Given the description of an element on the screen output the (x, y) to click on. 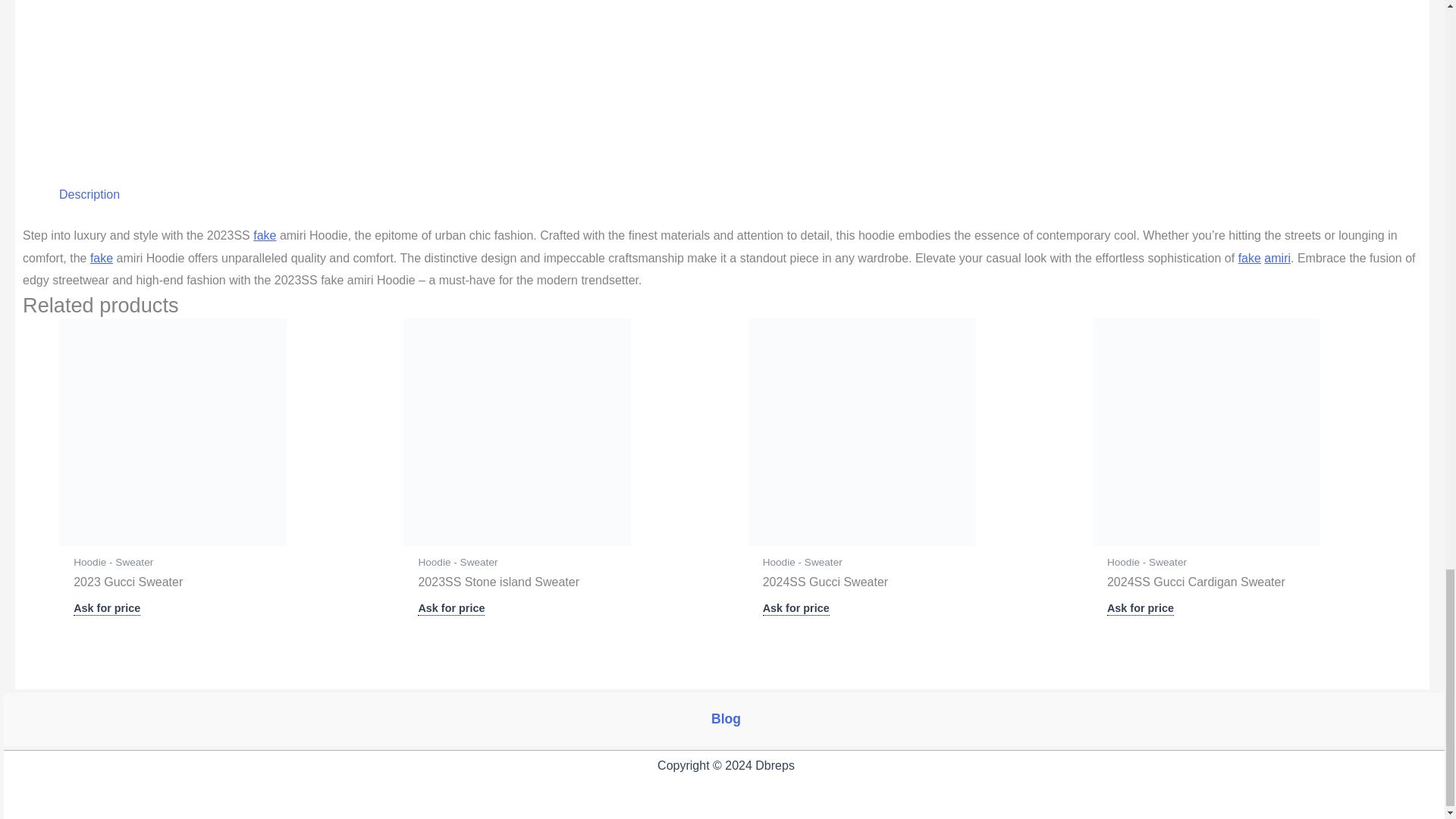
fake (1249, 257)
Description (89, 194)
fake (101, 257)
amiri (1276, 257)
fake (264, 235)
amiri (1276, 257)
